Given the description of an element on the screen output the (x, y) to click on. 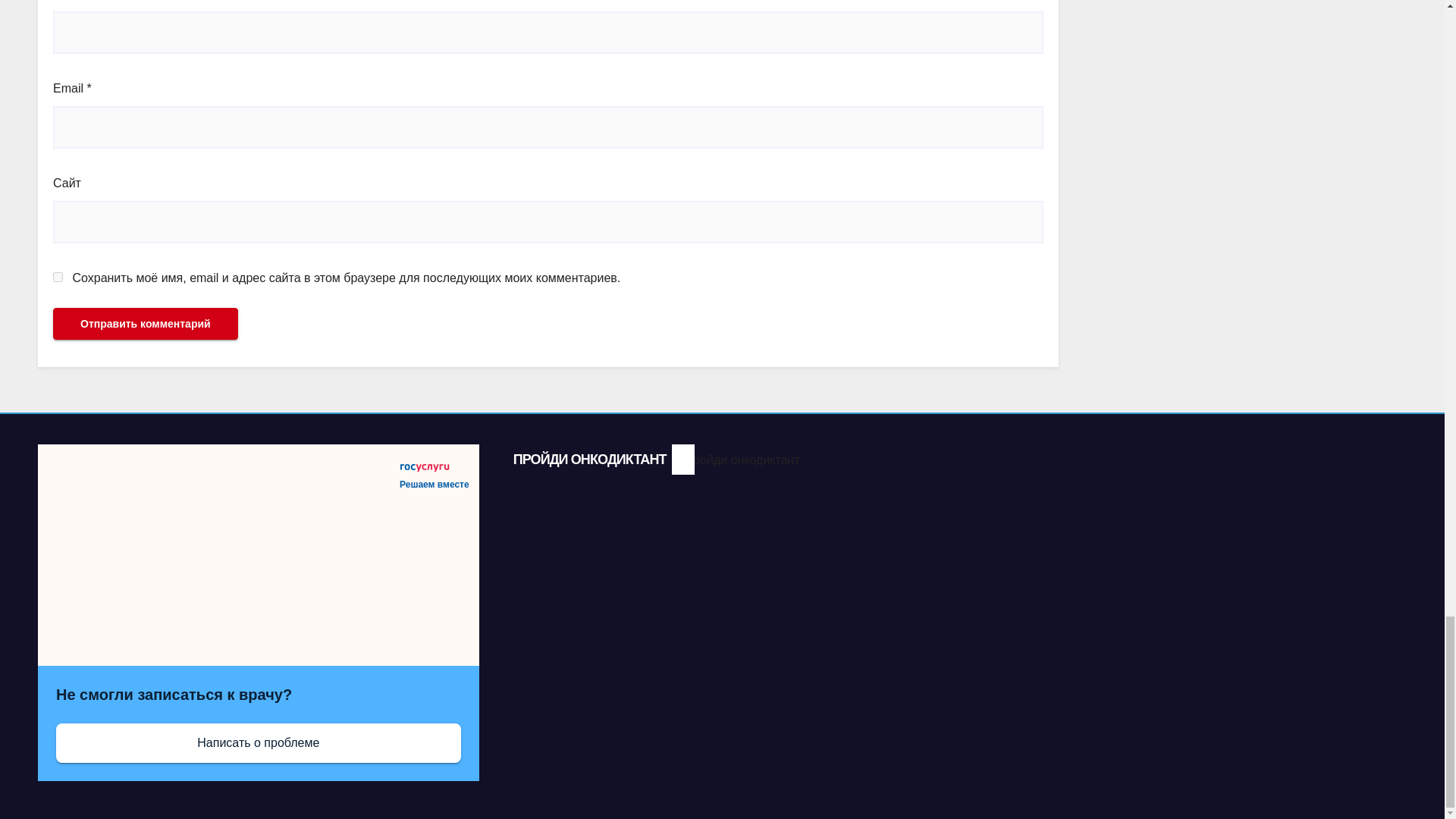
yes (57, 276)
